Given the description of an element on the screen output the (x, y) to click on. 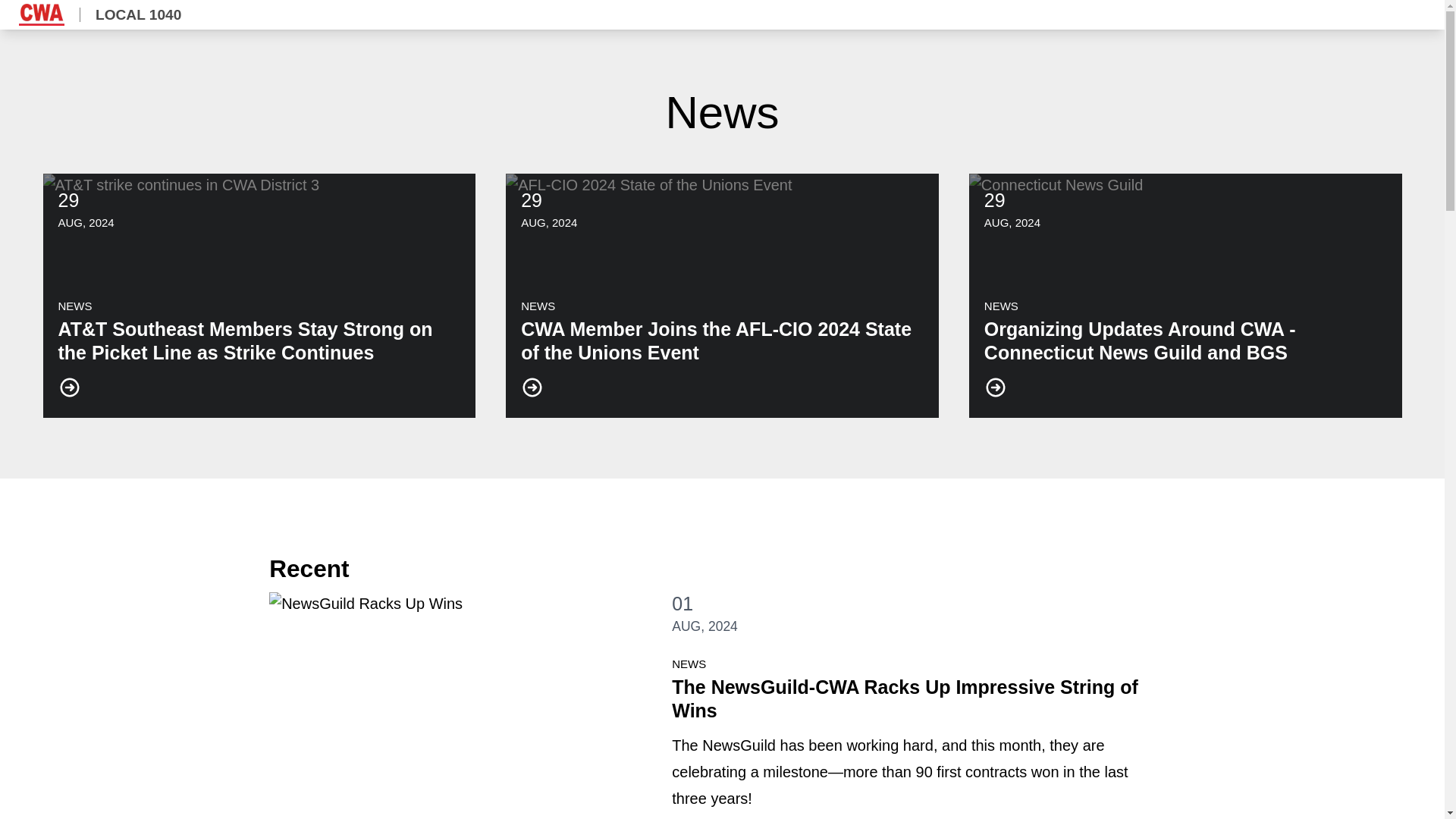
LOCAL 1040 (107, 14)
CWA Member Joins the AFL-CIO 2024 State of the Unions Event (722, 294)
Thursday, August 29, 2024 - 11:28 (1012, 221)
Thursday, August 29, 2024 - 11:49 (85, 221)
Thursday, August 29, 2024 - 11:49 (68, 199)
Thursday, August 29, 2024 - 11:41 (548, 221)
Thursday, August 1, 2024 - 10:39 (682, 603)
The NewsGuild-CWA Racks Up Impressive String of Wins (904, 698)
